Given the description of an element on the screen output the (x, y) to click on. 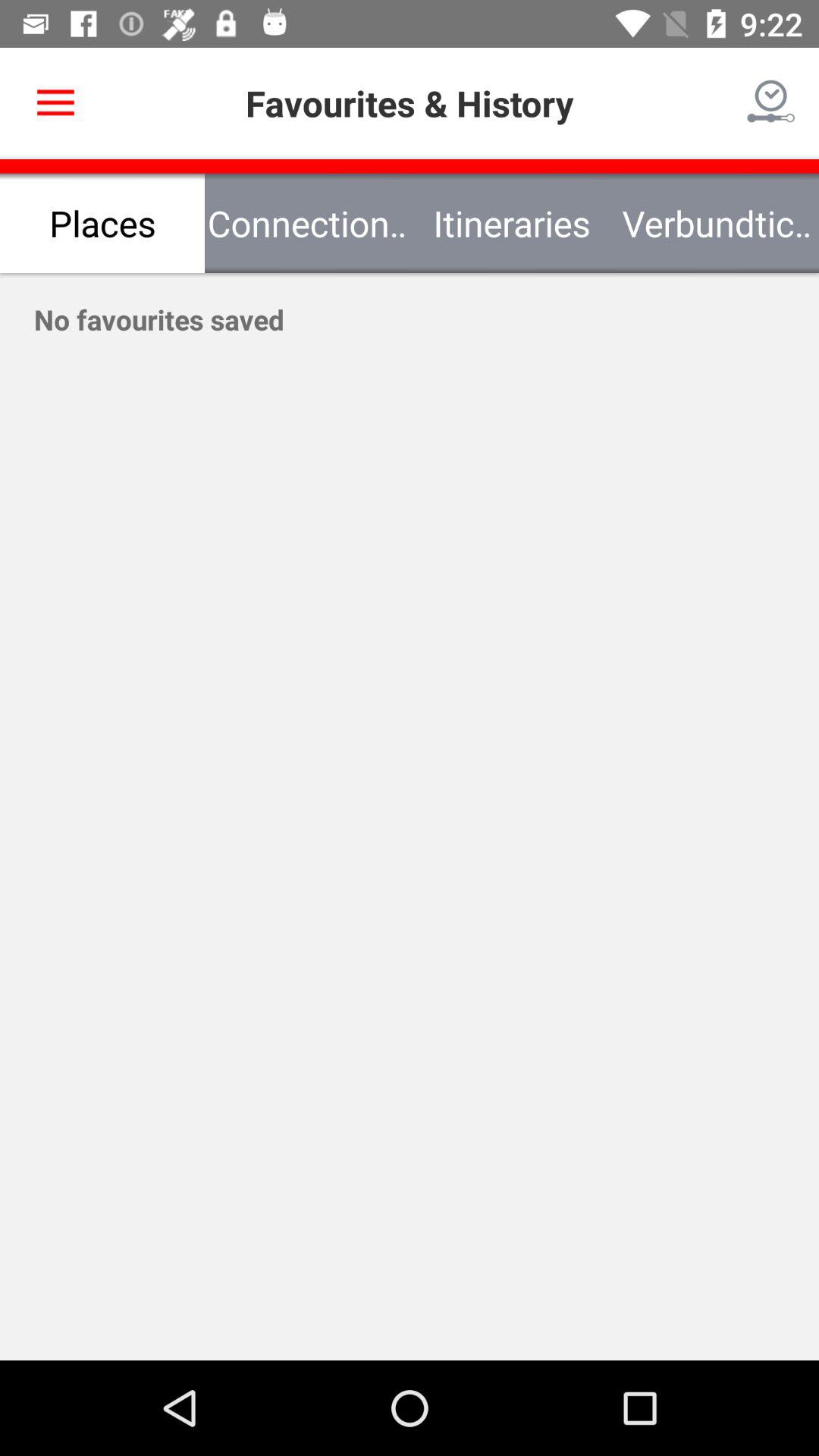
tap the icon to the right of itineraries item (716, 223)
